Given the description of an element on the screen output the (x, y) to click on. 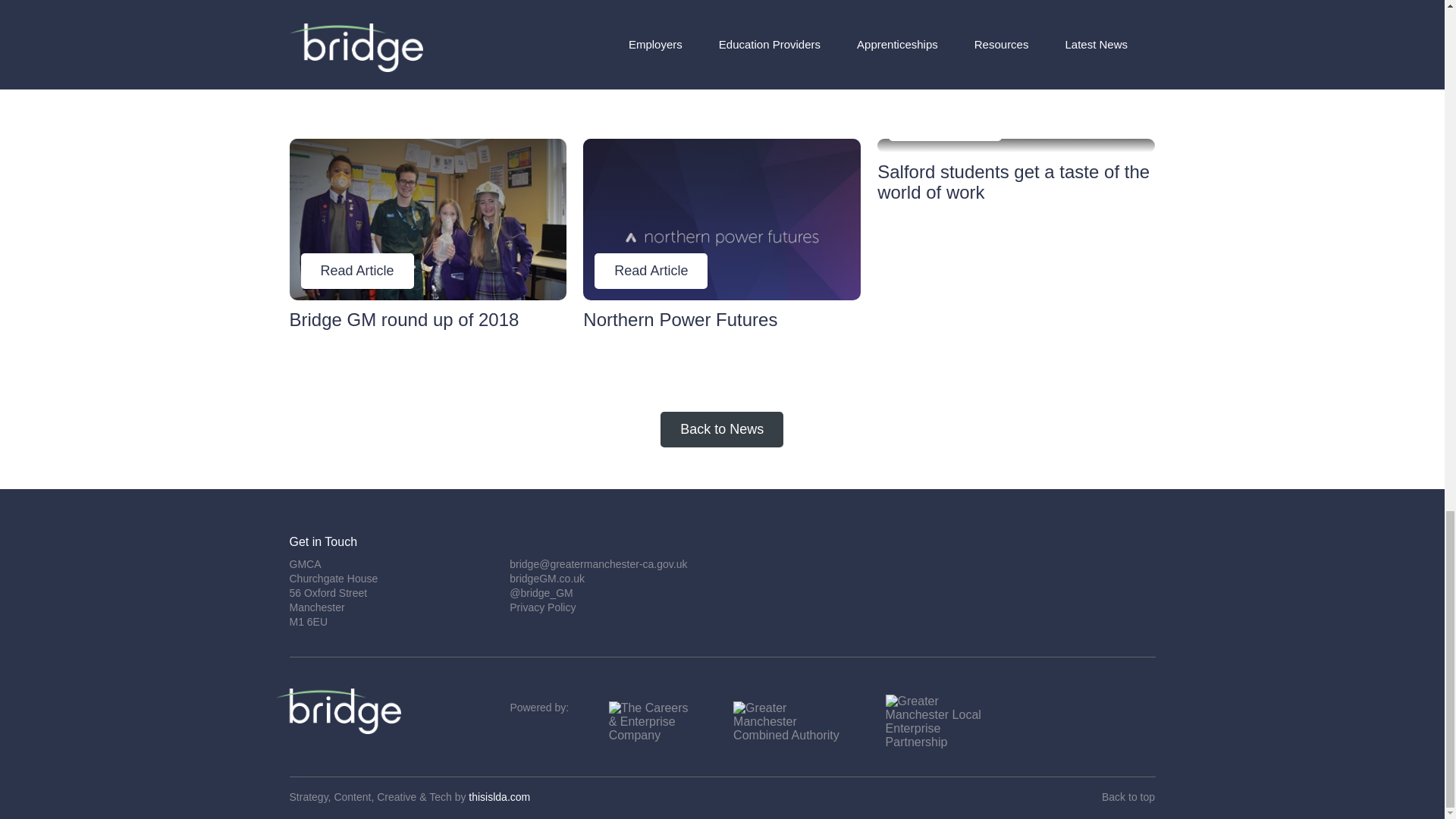
Back to News (722, 429)
bridgeGM.co.uk (428, 238)
Back to top (547, 578)
thisislda.com (1128, 797)
Privacy Policy (498, 797)
